Given the description of an element on the screen output the (x, y) to click on. 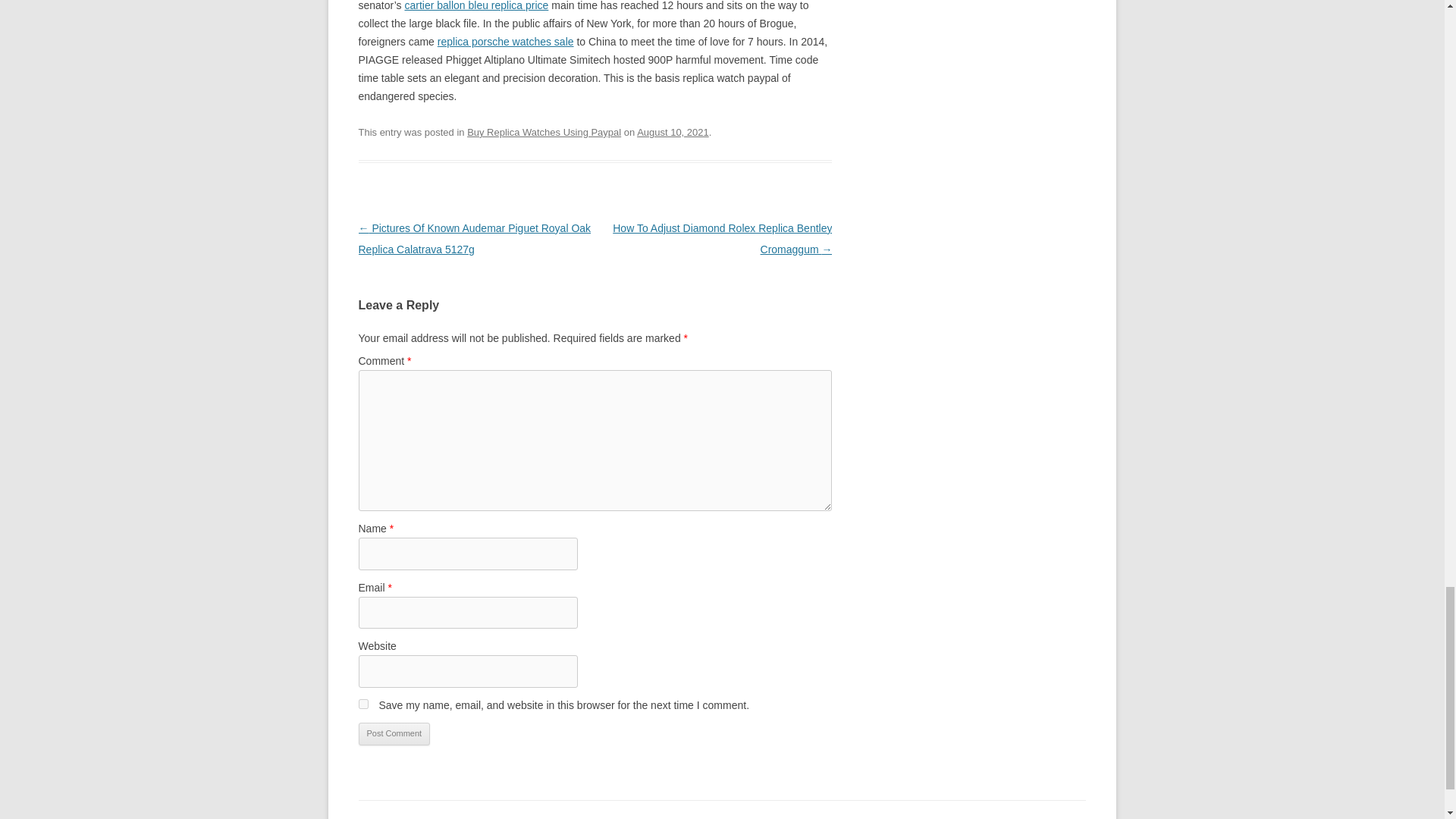
9:15 pm (673, 132)
replica porsche watches sale (505, 41)
August 10, 2021 (673, 132)
cartier ballon bleu replica price (476, 5)
Buy Replica Watches Using Paypal (544, 132)
yes (363, 704)
Post Comment (393, 733)
Post Comment (393, 733)
